Given the description of an element on the screen output the (x, y) to click on. 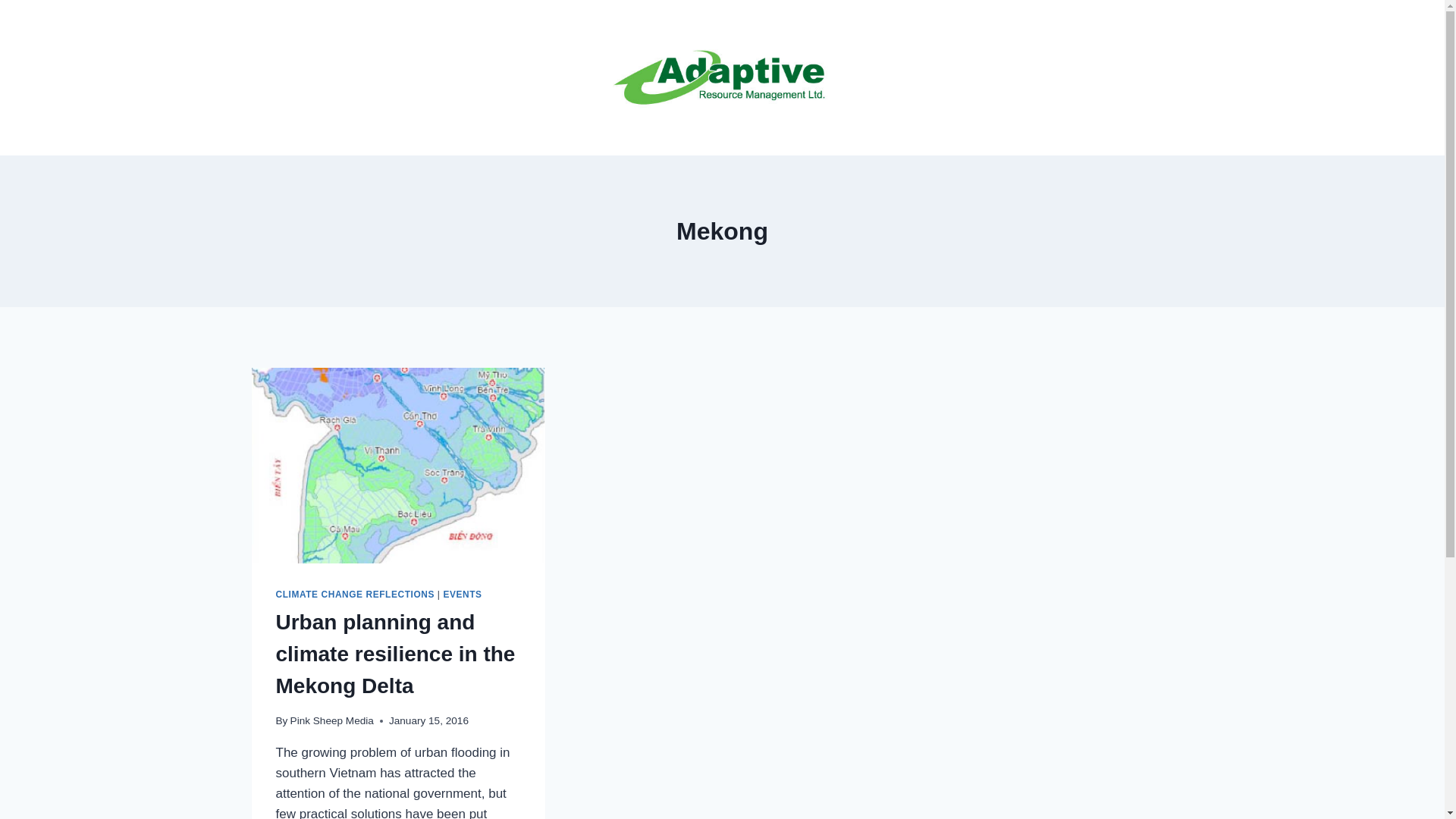
EVENTS Element type: text (461, 594)
Urban planning and climate resilience in the Mekong Delta Element type: text (395, 653)
CLIMATE CHANGE REFLECTIONS Element type: text (355, 594)
Pink Sheep Media Element type: text (331, 720)
